Given the description of an element on the screen output the (x, y) to click on. 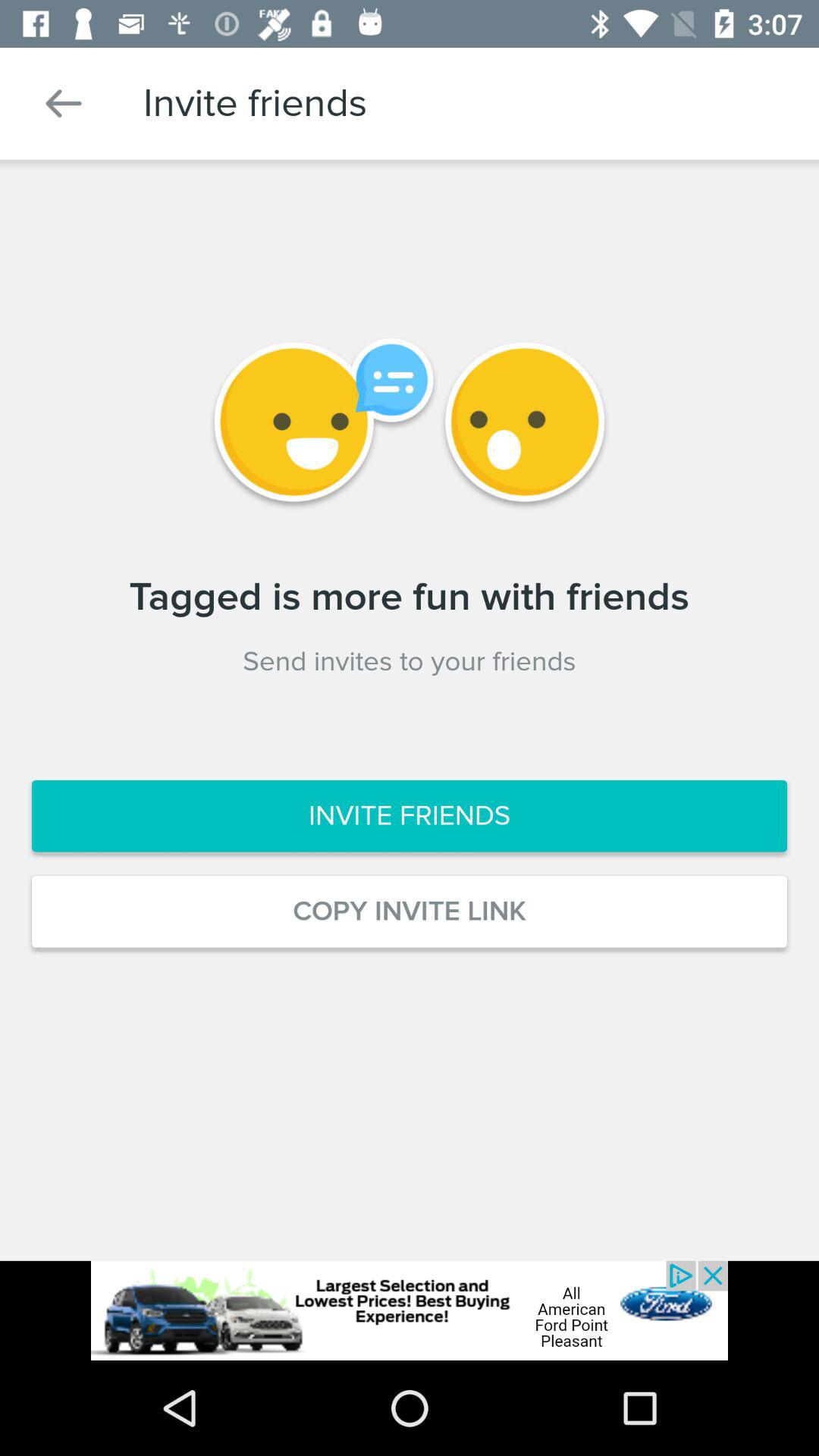
open advertisement (409, 1310)
